Given the description of an element on the screen output the (x, y) to click on. 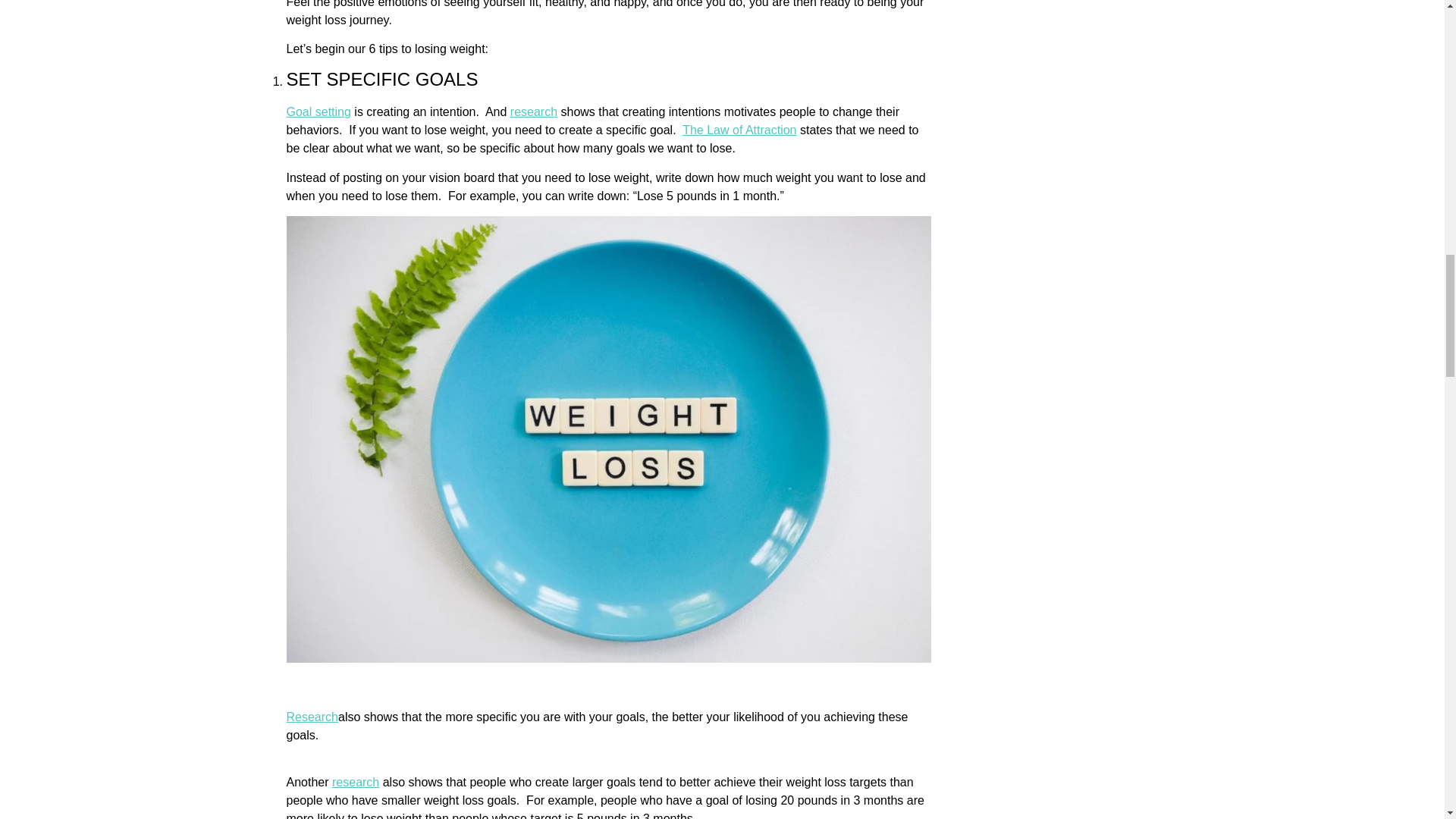
Goal setting (318, 111)
Research (311, 716)
The Law of Attraction (739, 129)
research (534, 111)
